Given the description of an element on the screen output the (x, y) to click on. 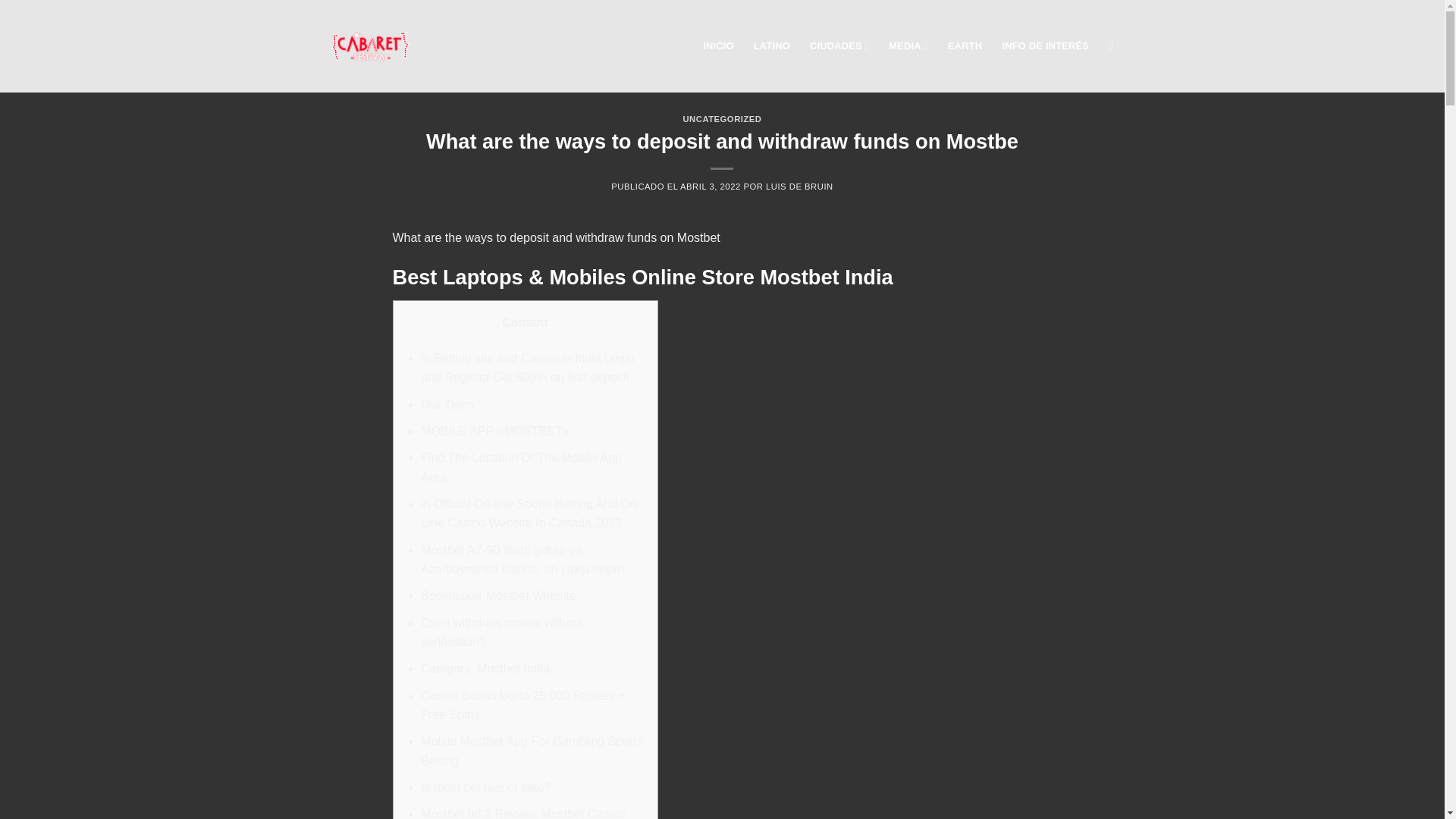
Mostbet bd 2 Review: Mostbet Casino App in Bangladesh 2023 (522, 813)
Find The Location Of The Mobile App Area (520, 467)
LUIS DE BRUIN (798, 185)
Bookmaker Mostbet Website (497, 594)
EARTH (964, 45)
Can I withdraw money without verification? (501, 632)
Our Team (447, 404)
UNCATEGORIZED (721, 118)
INICIO (718, 45)
